Given the description of an element on the screen output the (x, y) to click on. 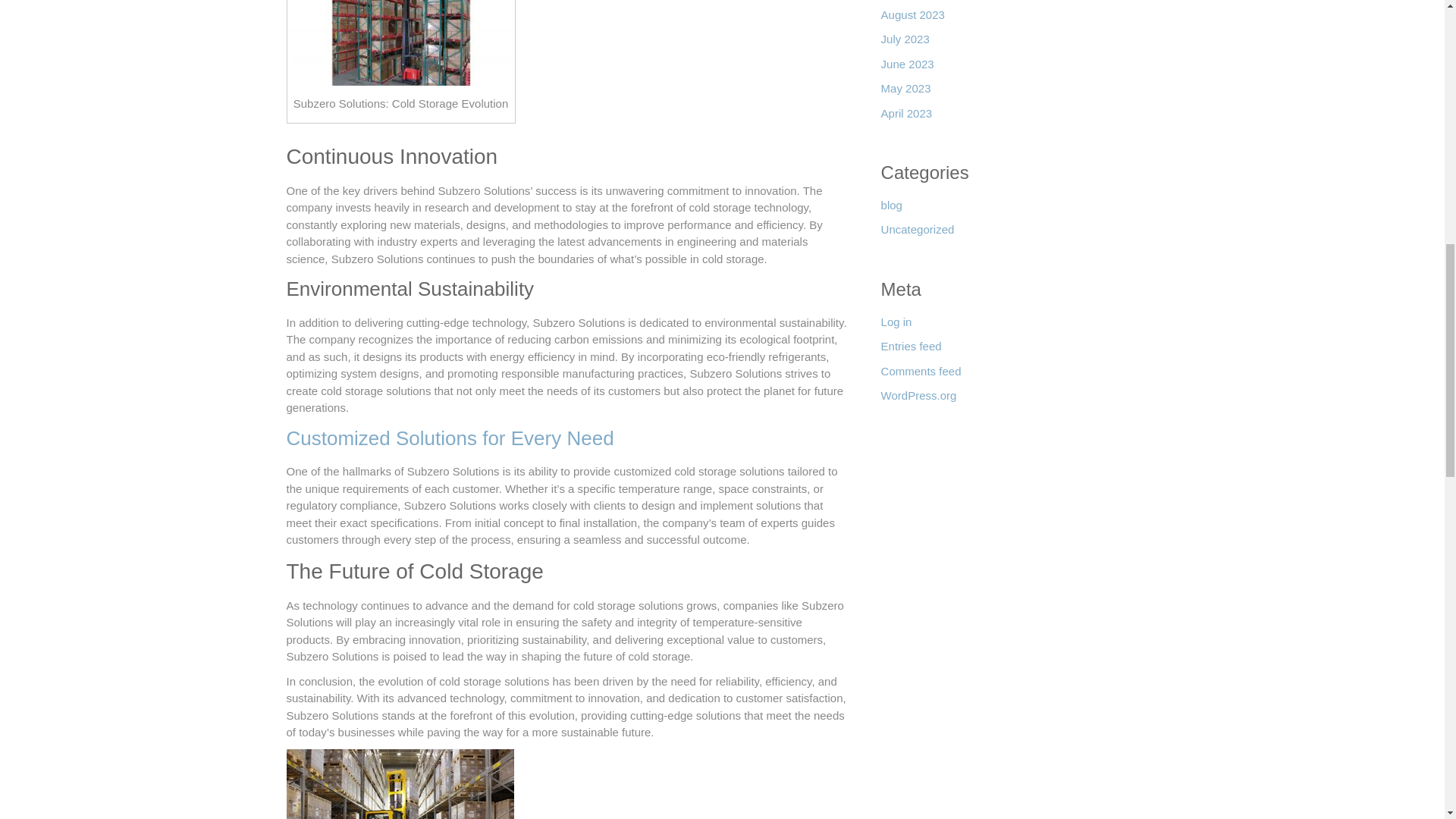
Cold Storage Evolution (399, 784)
Customized Solutions for Every Need (450, 437)
September 2023 (922, 3)
August 2023 (912, 18)
Subzero Solutions: Cold Storage Evolution (400, 43)
July 2023 (905, 43)
